Given the description of an element on the screen output the (x, y) to click on. 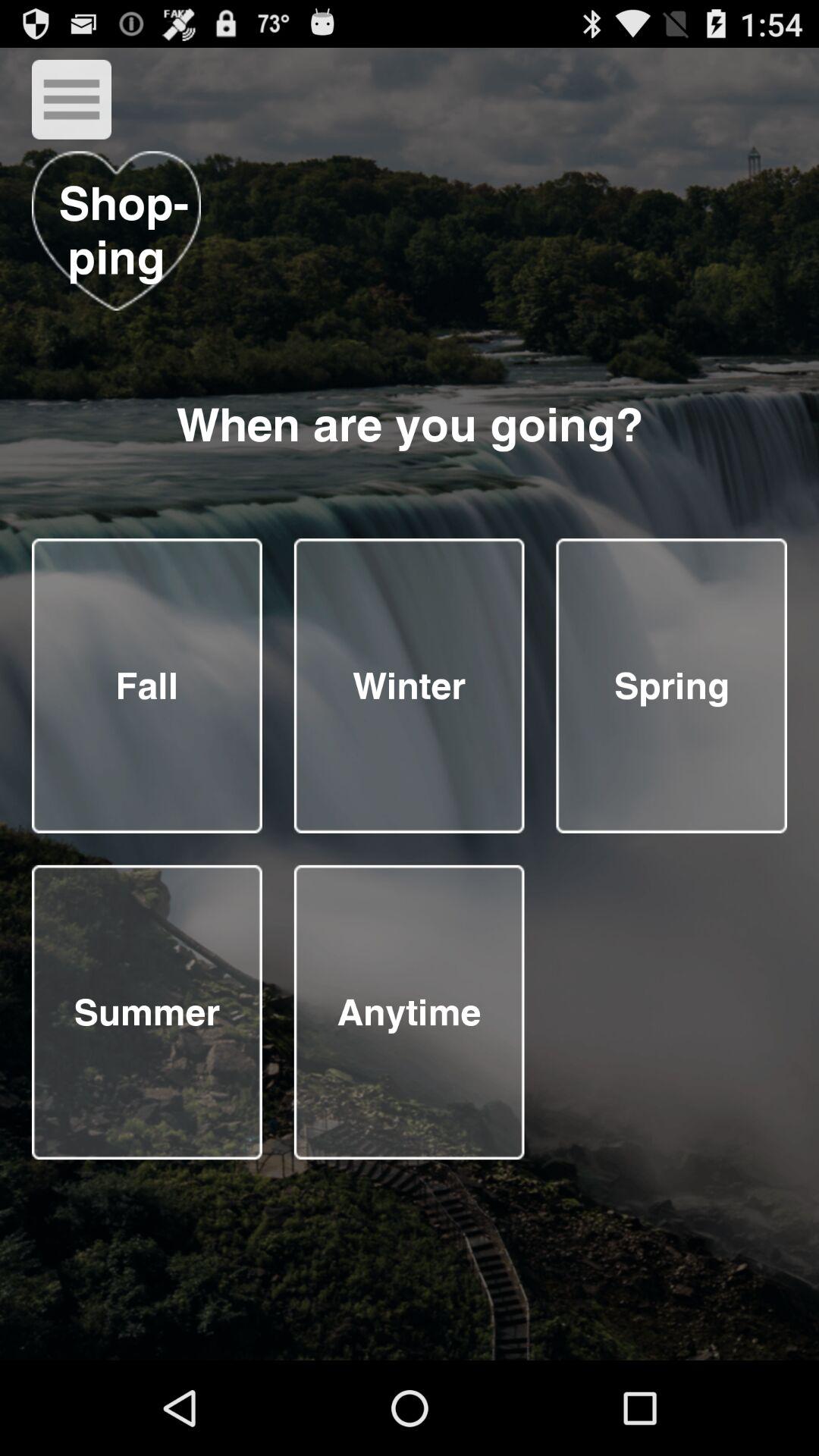
select fall season (146, 685)
